Given the description of an element on the screen output the (x, y) to click on. 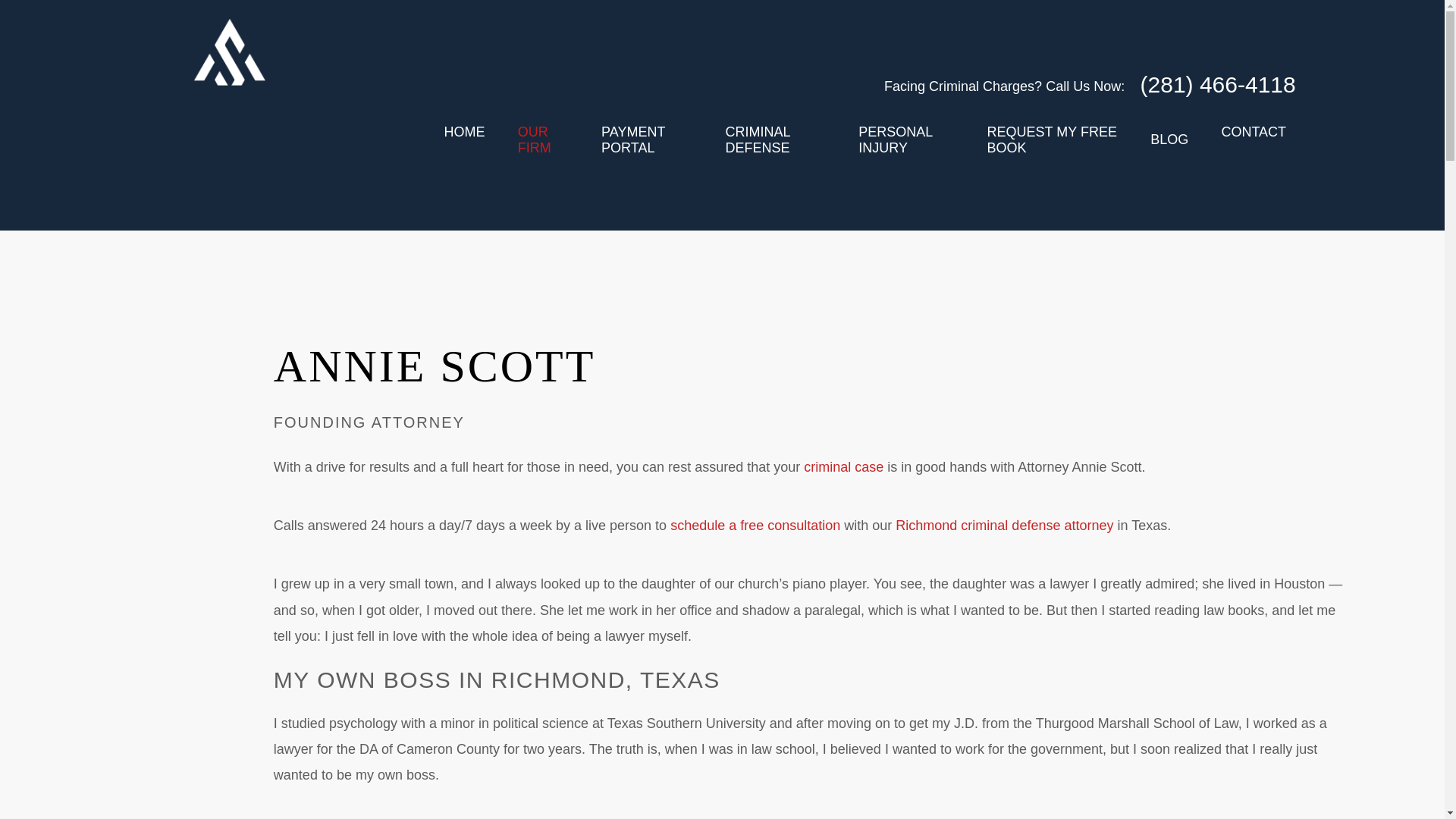
HOME (464, 140)
CRIMINAL DEFENSE (775, 140)
PAYMENT PORTAL (647, 140)
Law Office of Annie Scott (229, 110)
Open the accessibility options menu (1423, 798)
OUR FIRM (543, 140)
